Given the description of an element on the screen output the (x, y) to click on. 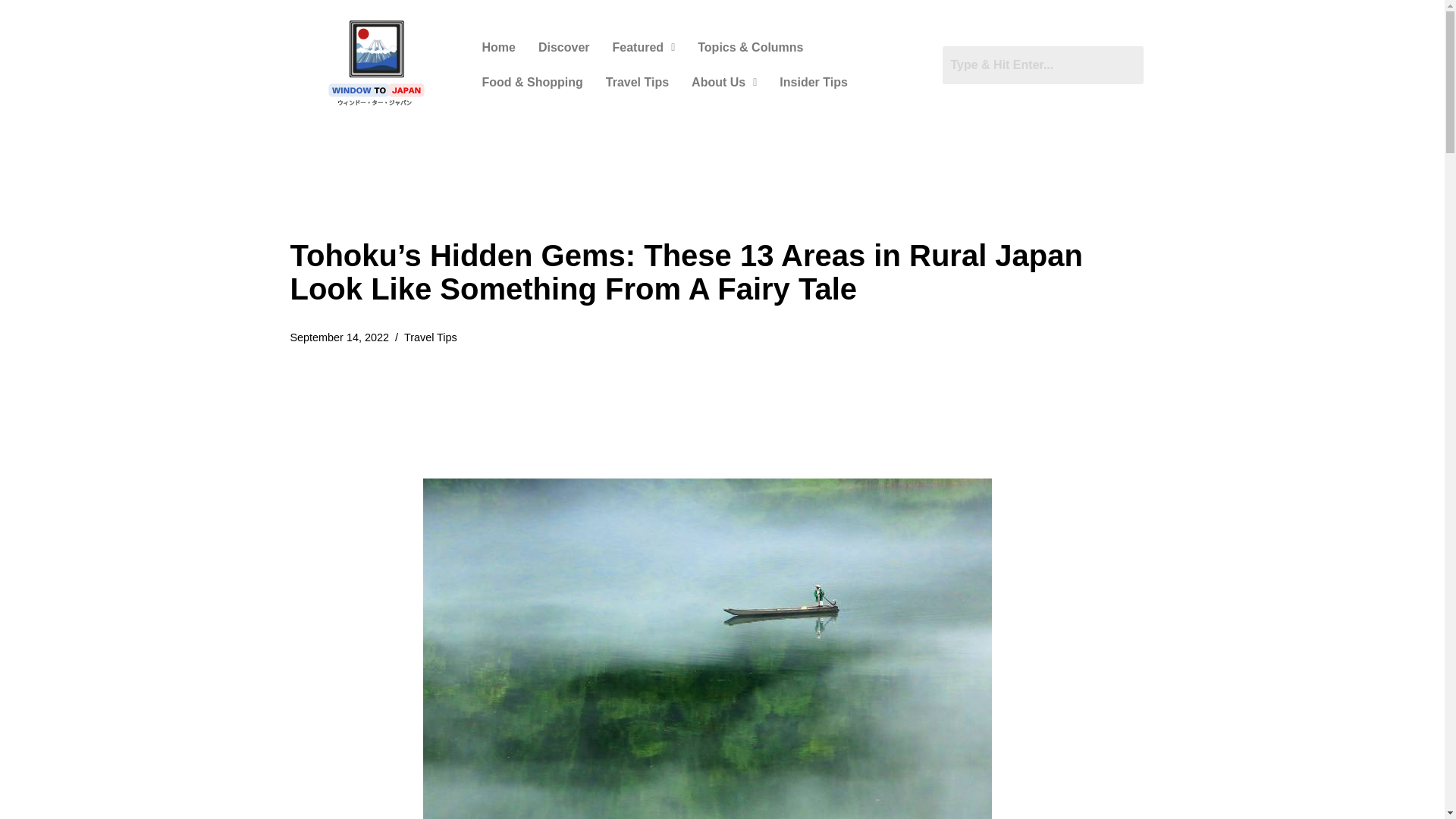
Insider Tips (813, 82)
Skip to content (11, 31)
Travel Tips (430, 337)
Search (1042, 64)
Discover (564, 47)
About Us (723, 82)
Featured (644, 47)
Home (497, 47)
Travel Tips (636, 82)
